Given the description of an element on the screen output the (x, y) to click on. 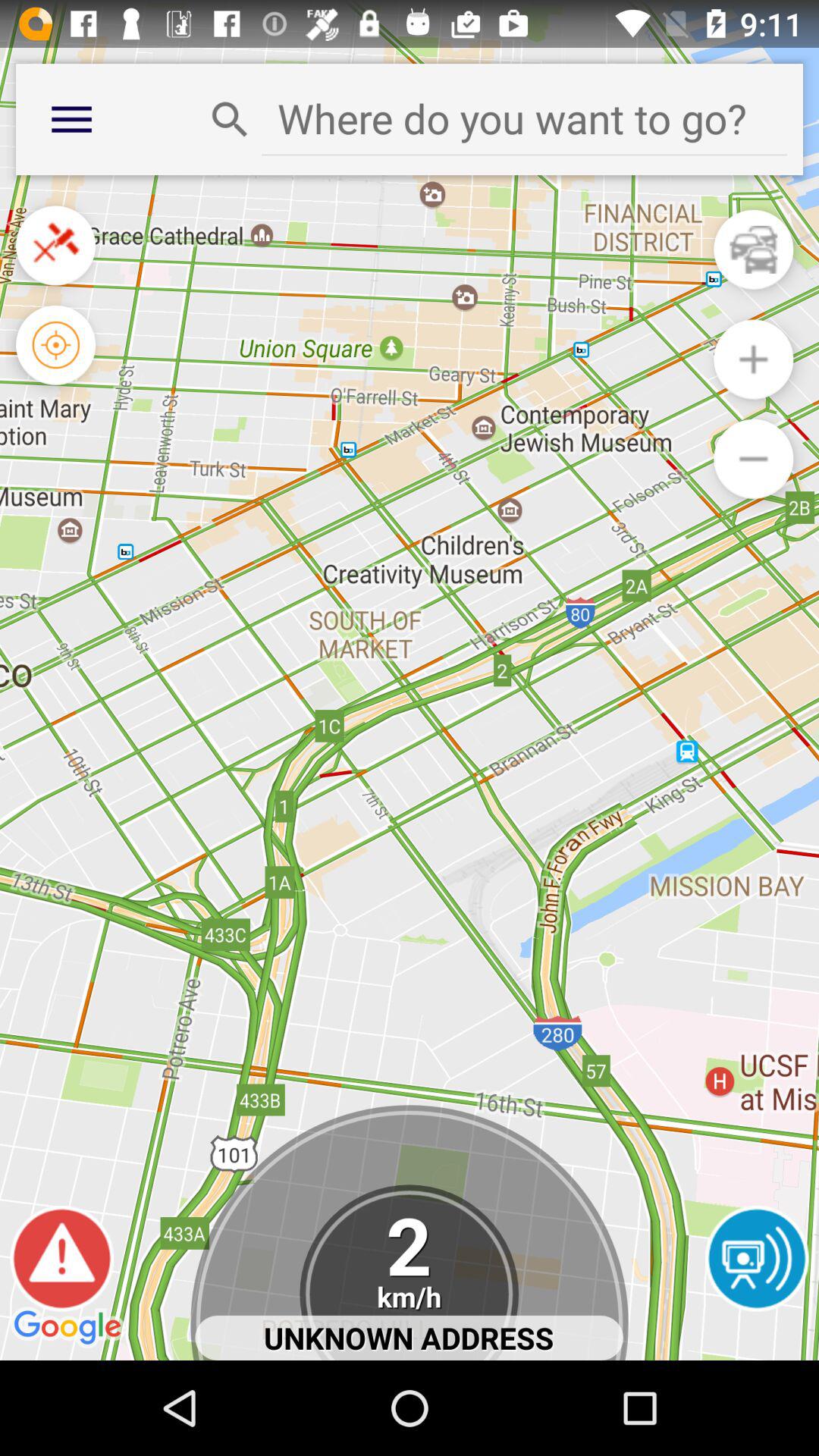
zoom into the map (753, 359)
